Given the description of an element on the screen output the (x, y) to click on. 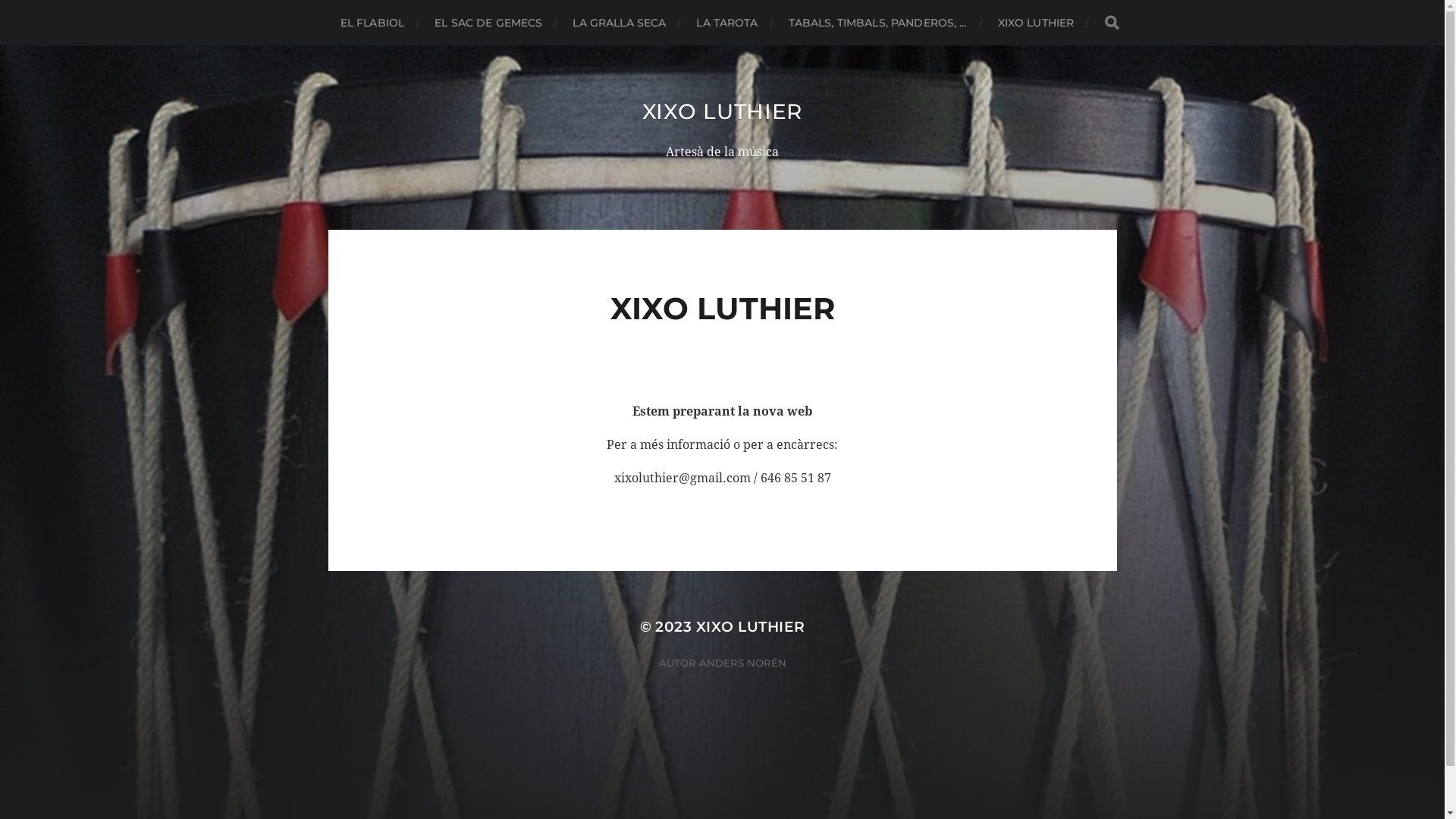
EL FLABIOL Element type: text (372, 22)
LA TAROTA Element type: text (726, 22)
XIXO LUTHIER Element type: text (750, 626)
LA GRALLA SECA Element type: text (618, 22)
XIXO LUTHIER Element type: text (722, 111)
XIXO LUTHIER Element type: text (1035, 22)
EL SAC DE GEMECS Element type: text (488, 22)
